Given the description of an element on the screen output the (x, y) to click on. 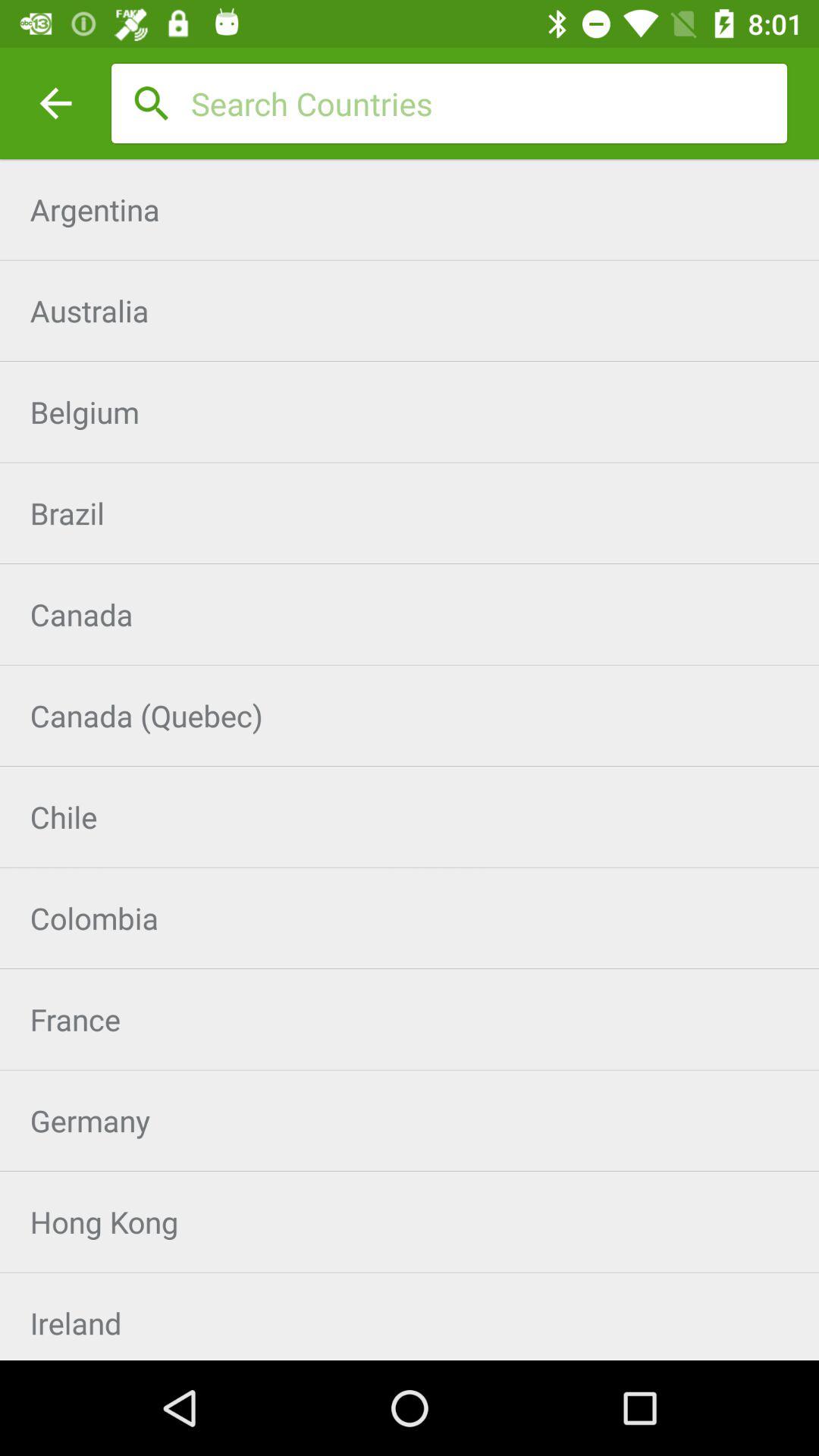
click item above the argentina item (55, 103)
